Given the description of an element on the screen output the (x, y) to click on. 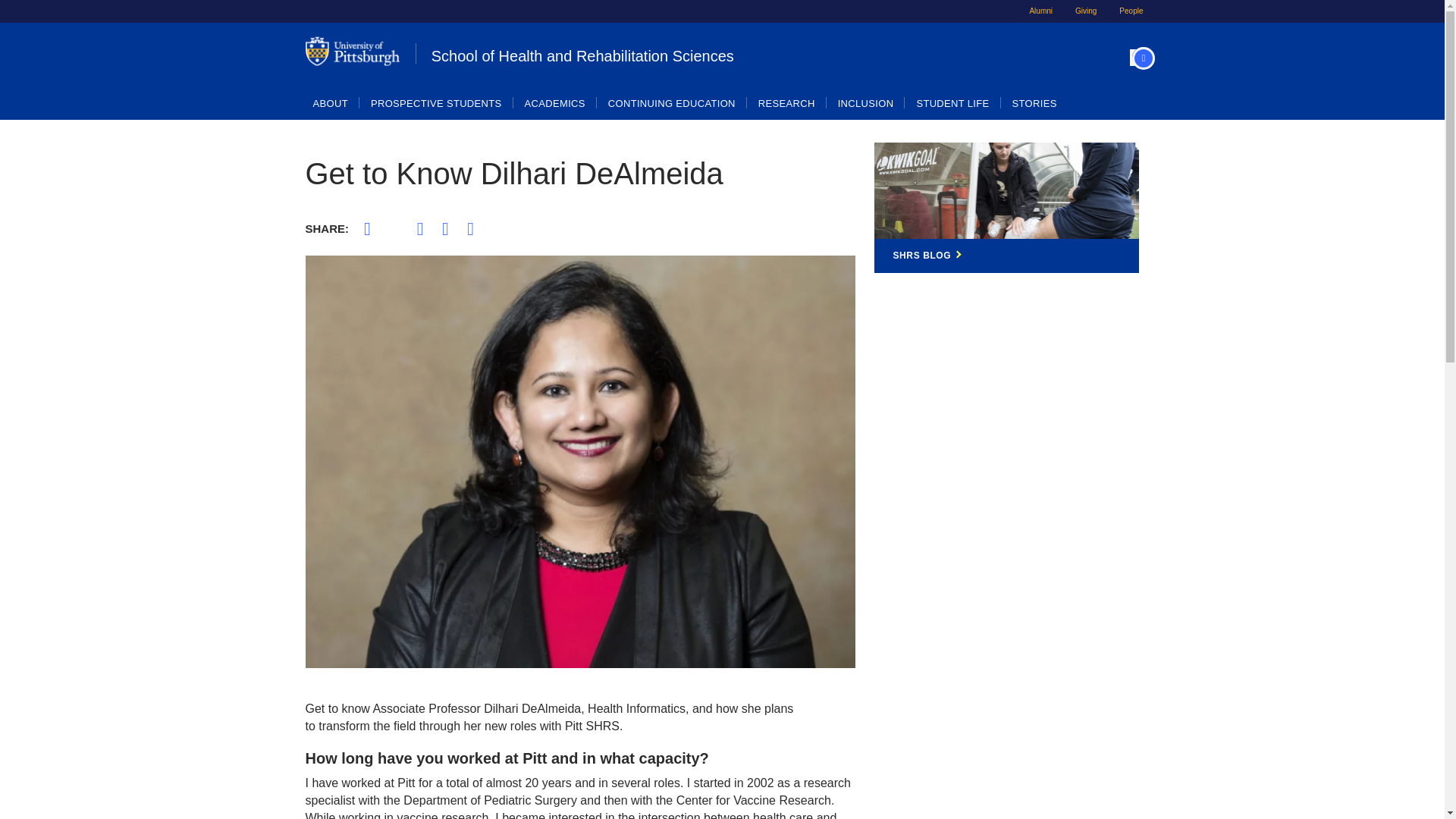
Enter the terms you wish to search for. (1124, 57)
ACADEMICS (554, 102)
Giving (1086, 11)
Search (1014, 79)
School of Health and Rehabilitation Sciences (676, 53)
ABOUT (330, 102)
People (1131, 11)
Alumni (1040, 11)
PROSPECTIVE STUDENTS (436, 102)
